Given the description of an element on the screen output the (x, y) to click on. 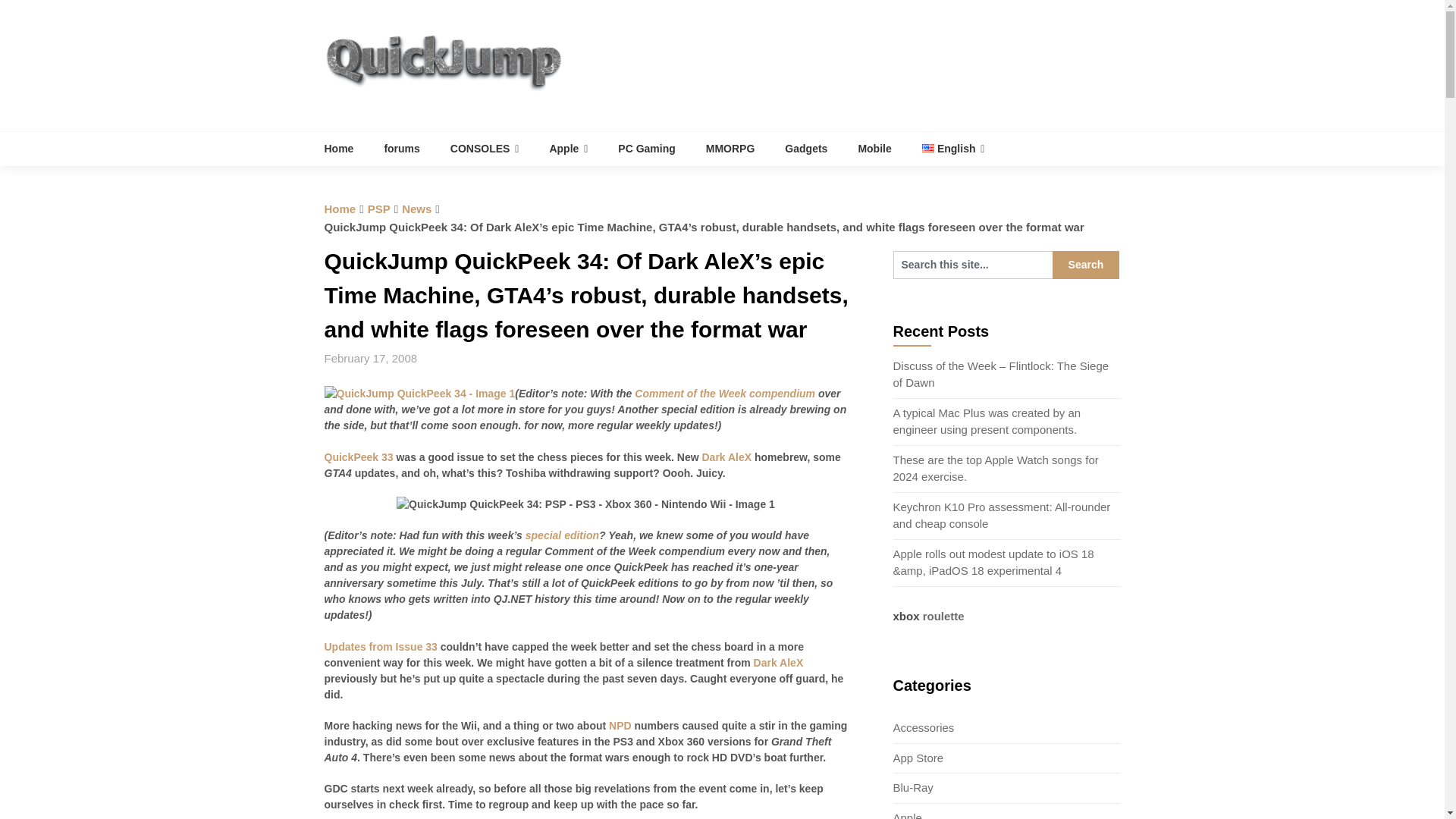
Search this site... (972, 264)
CONSOLES (484, 148)
PSP (379, 208)
Gadgets (806, 148)
Dark AleX (726, 457)
QuickJump QuickPeek 34 - Image 1 (419, 393)
Comment of the Week compendium (724, 393)
QuickPeek 33 (358, 465)
News (415, 208)
English (953, 148)
Dark AleX (778, 662)
special edition (561, 535)
MMORPG (730, 148)
PSP homebrew developer (726, 457)
